Given the description of an element on the screen output the (x, y) to click on. 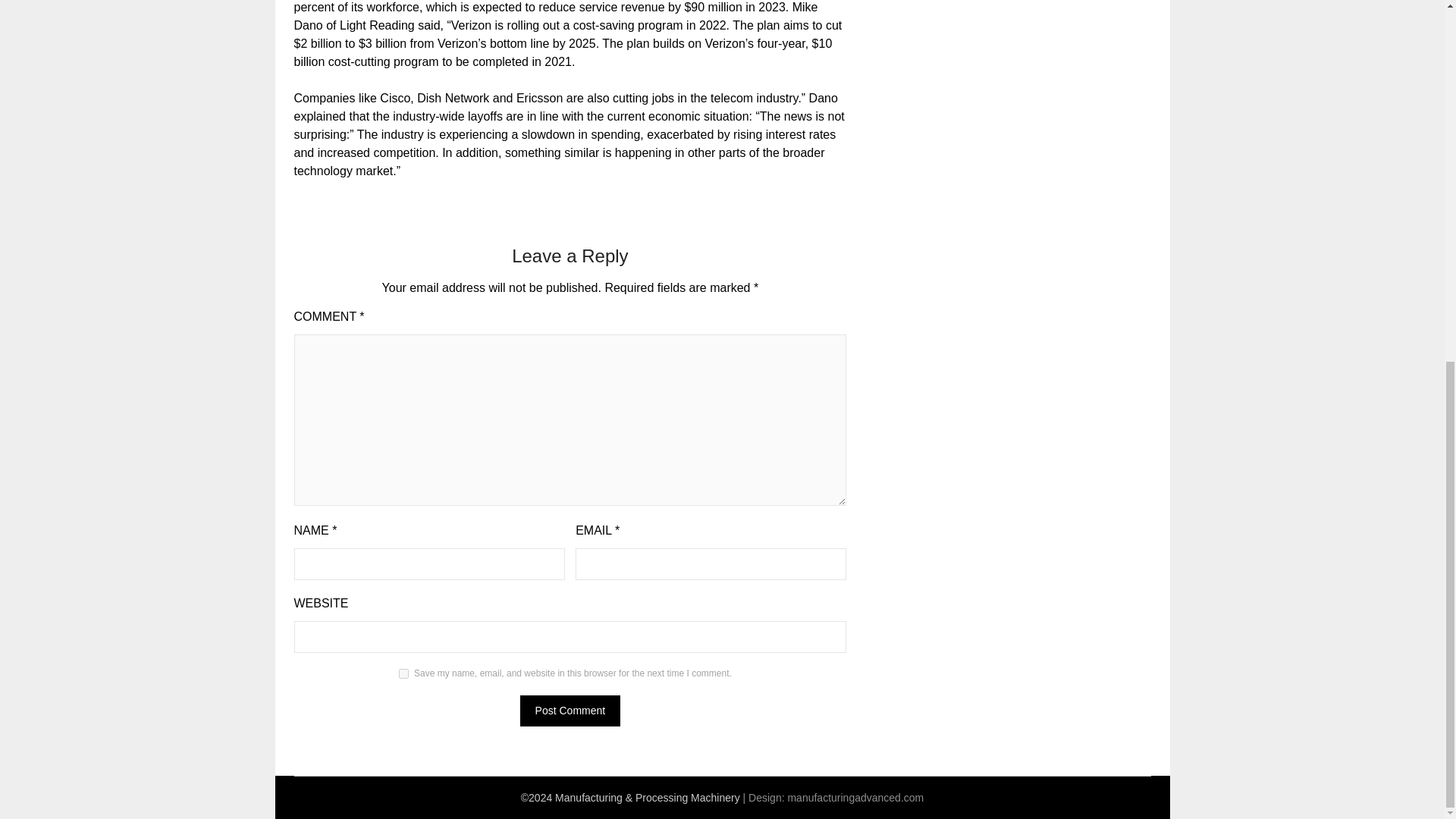
manufacturingadvanced.com (855, 797)
yes (403, 673)
Post Comment (570, 710)
Post Comment (570, 710)
